Given the description of an element on the screen output the (x, y) to click on. 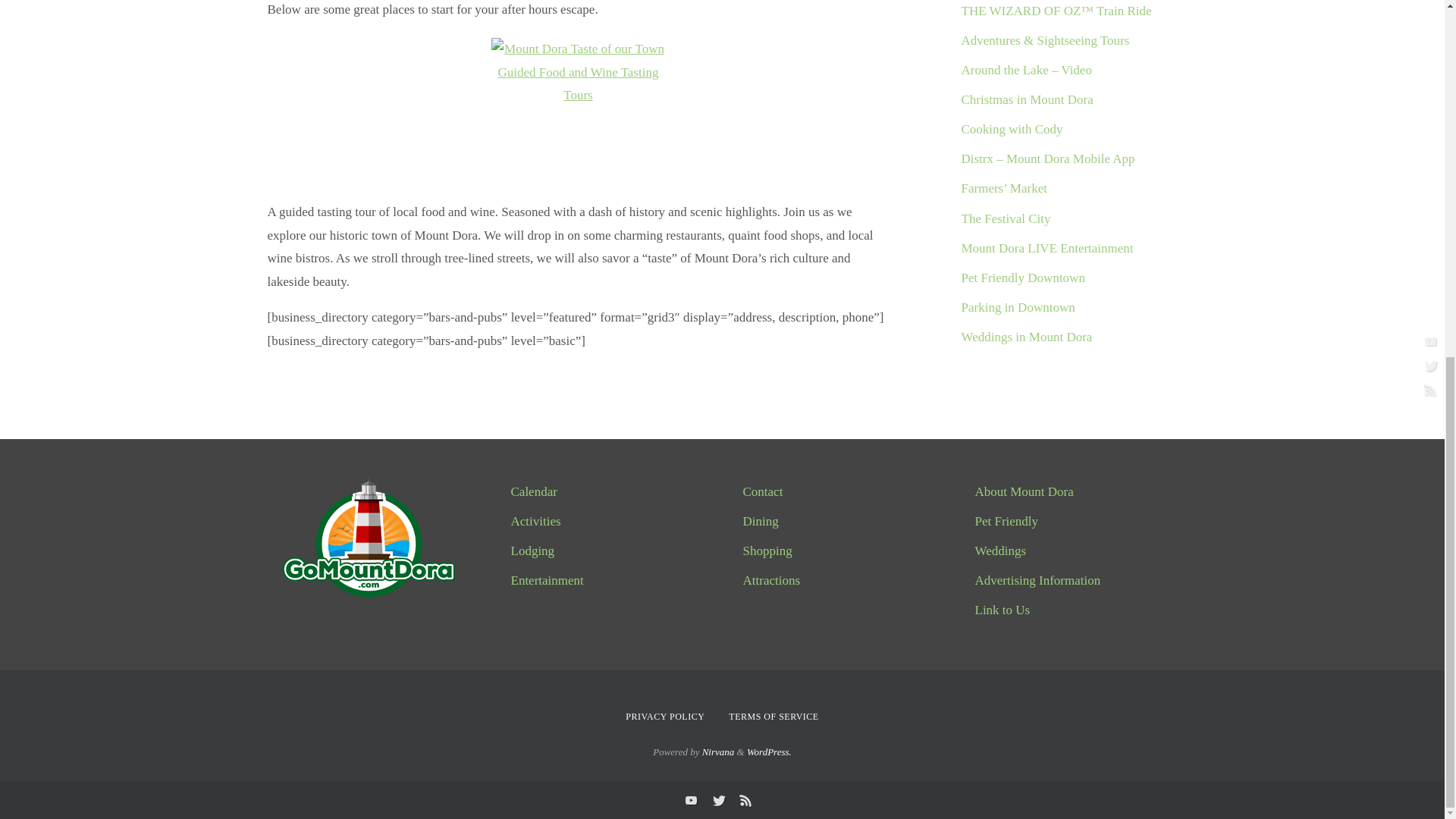
RSS (745, 799)
YouTube (690, 799)
Semantic Personal Publishing Platform (769, 751)
Twitter (717, 799)
Nirvana Theme by Cryout Creations (718, 751)
